Given the description of an element on the screen output the (x, y) to click on. 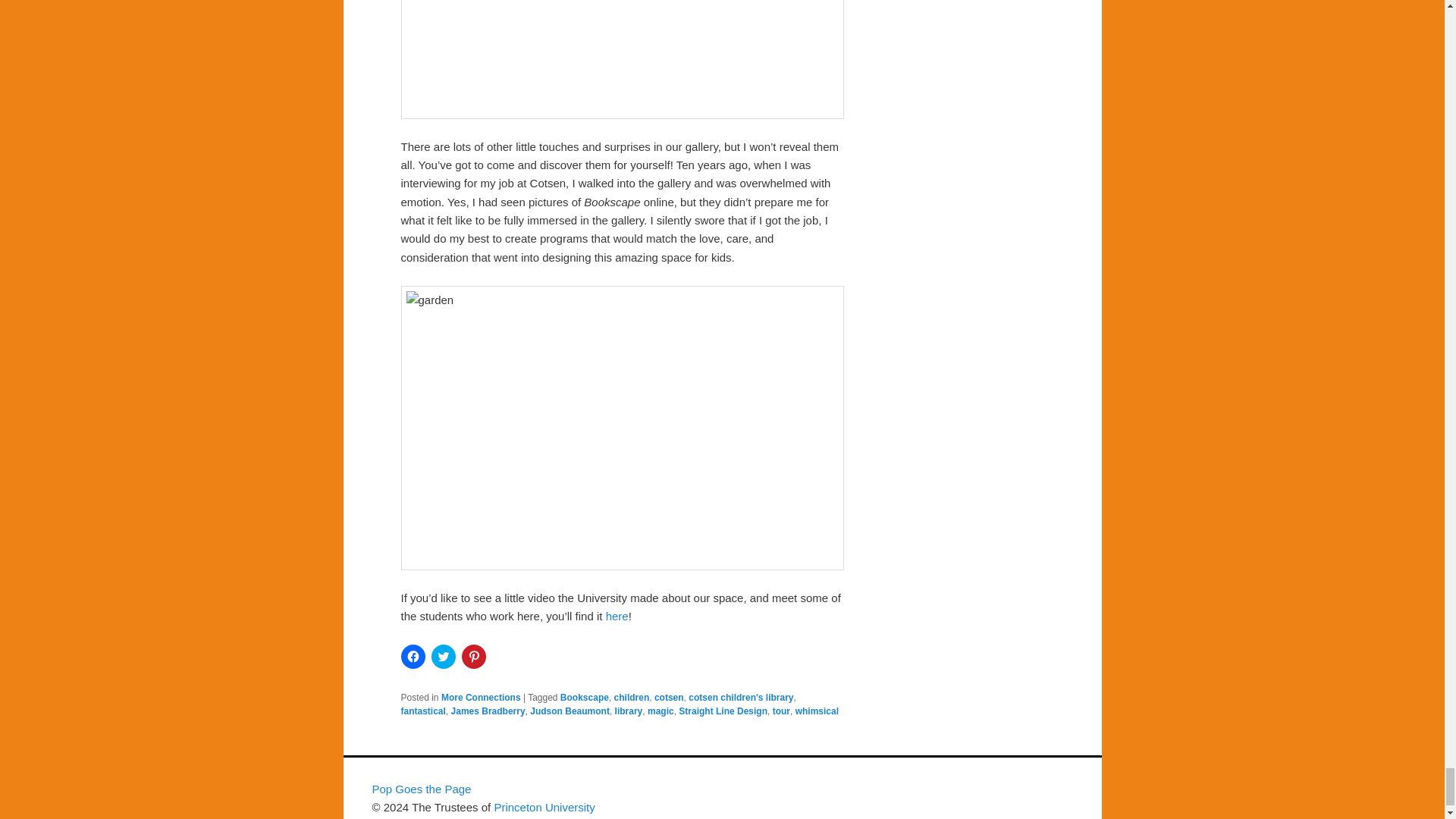
Click to share on Facebook (412, 656)
Click to share on Twitter (442, 656)
Click to share on Pinterest (472, 656)
